Given the description of an element on the screen output the (x, y) to click on. 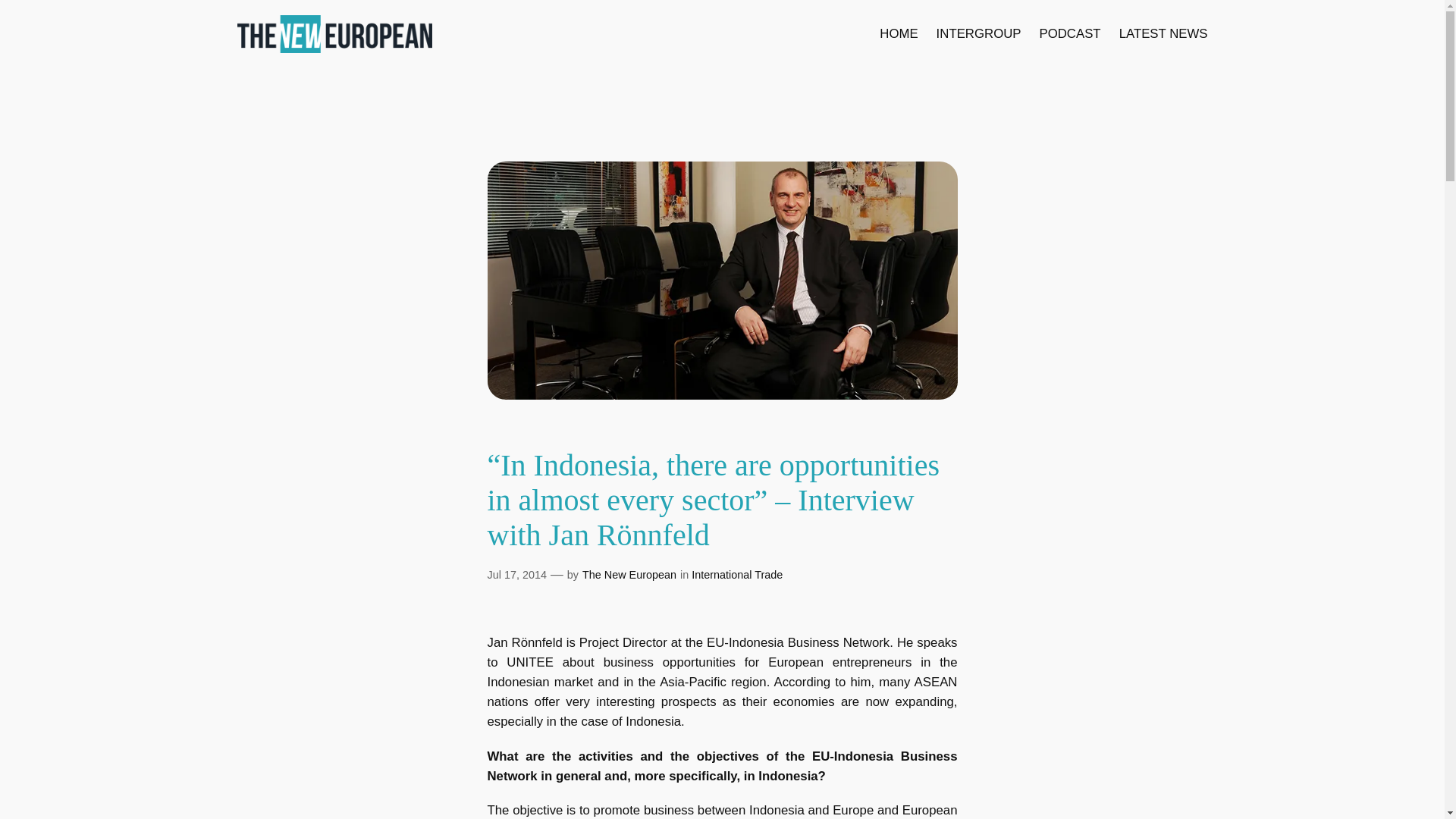
International Trade (737, 574)
INTERGROUP (979, 34)
PODCAST (1069, 34)
The New European (629, 574)
Jul 17, 2014 (516, 574)
LATEST NEWS (1163, 34)
HOME (898, 34)
